Given the description of an element on the screen output the (x, y) to click on. 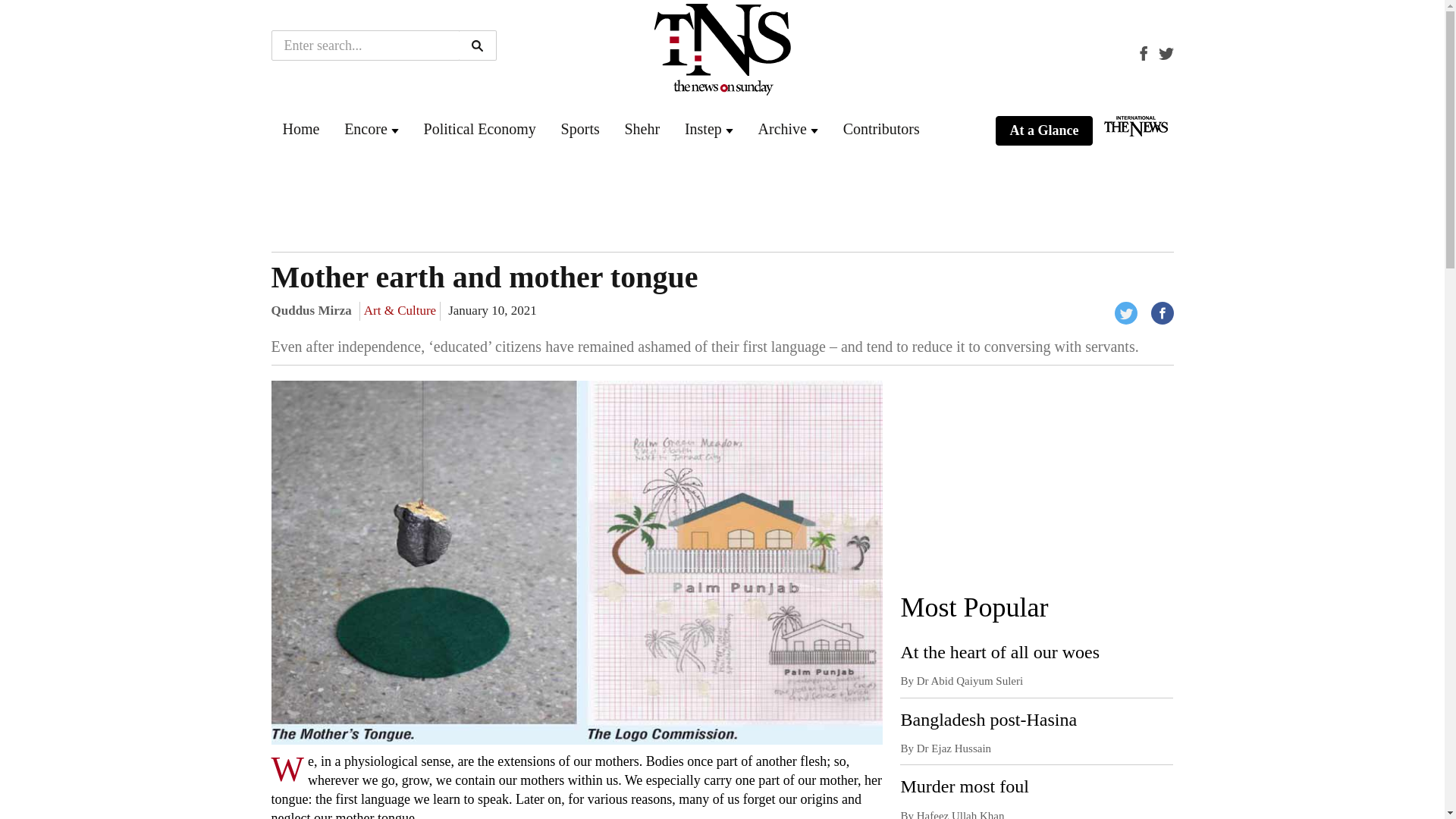
Quddus Mirza (311, 310)
TNS (300, 128)
Instep (703, 128)
At a Glance (1043, 131)
Political Economy (479, 128)
Sports (579, 128)
By Dr Ejaz Hussain (945, 748)
Shehr (641, 128)
Political-Economy (479, 128)
Archive (782, 128)
